Given the description of an element on the screen output the (x, y) to click on. 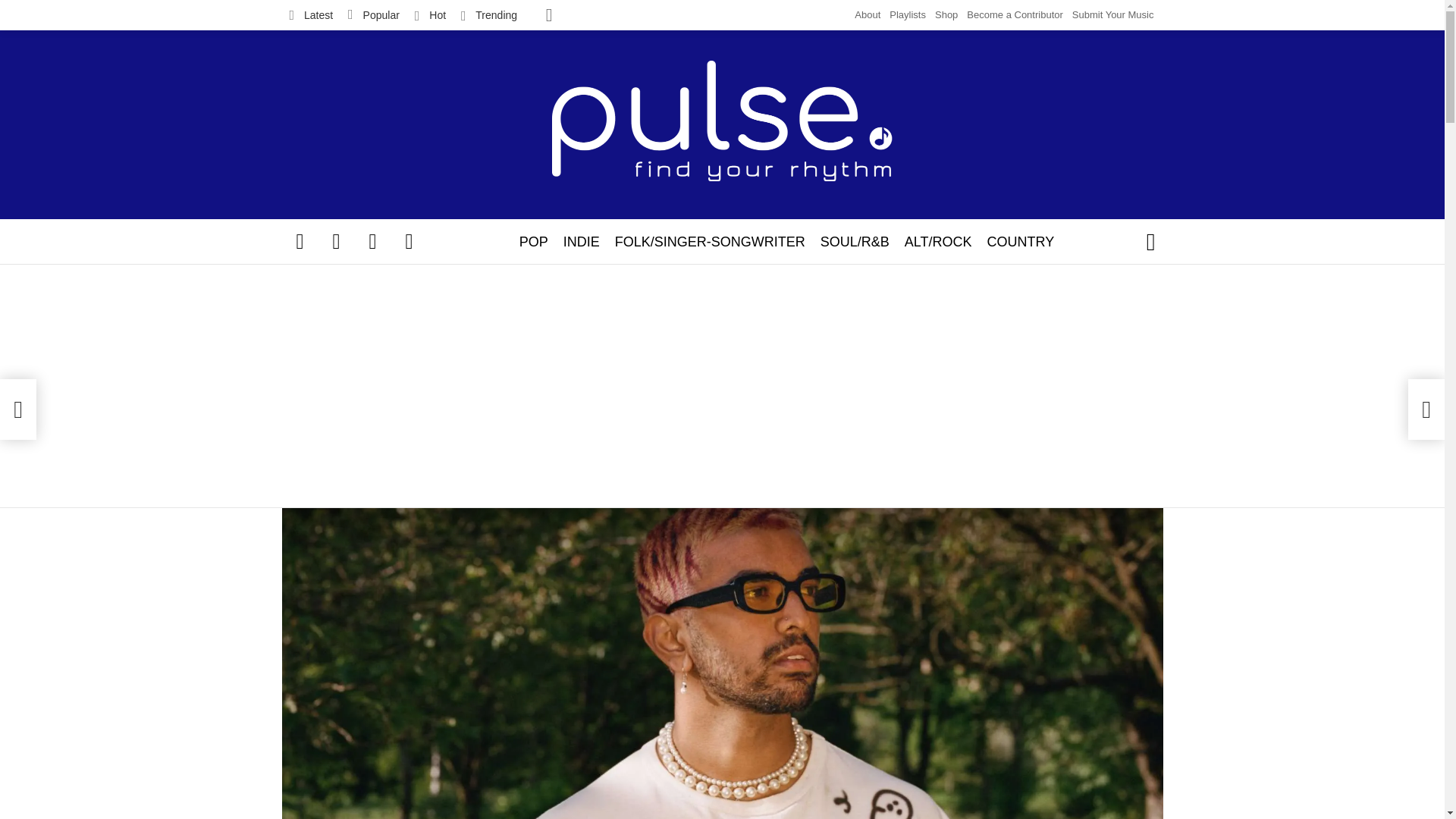
Playlists (907, 15)
spotify (409, 240)
INDIE (581, 241)
Hot (429, 14)
Become a Contributor (1014, 15)
instagram (373, 240)
Popular (373, 14)
POP (534, 241)
twitter (336, 240)
COUNTRY (1020, 241)
Trending (488, 14)
Latest (311, 14)
Submit Your Music (1112, 15)
facebook (300, 240)
